Given the description of an element on the screen output the (x, y) to click on. 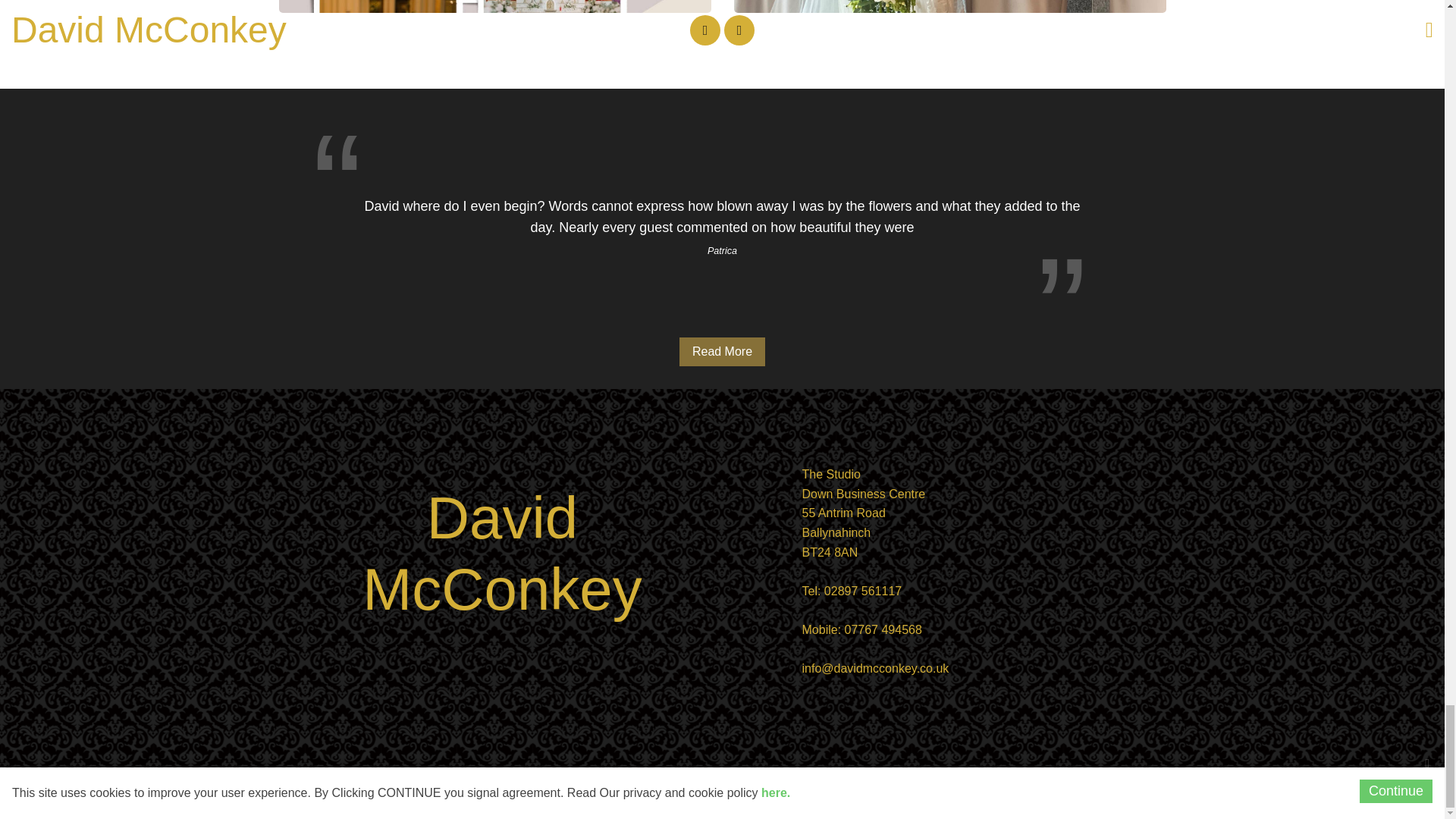
Read More (722, 351)
